Given the description of an element on the screen output the (x, y) to click on. 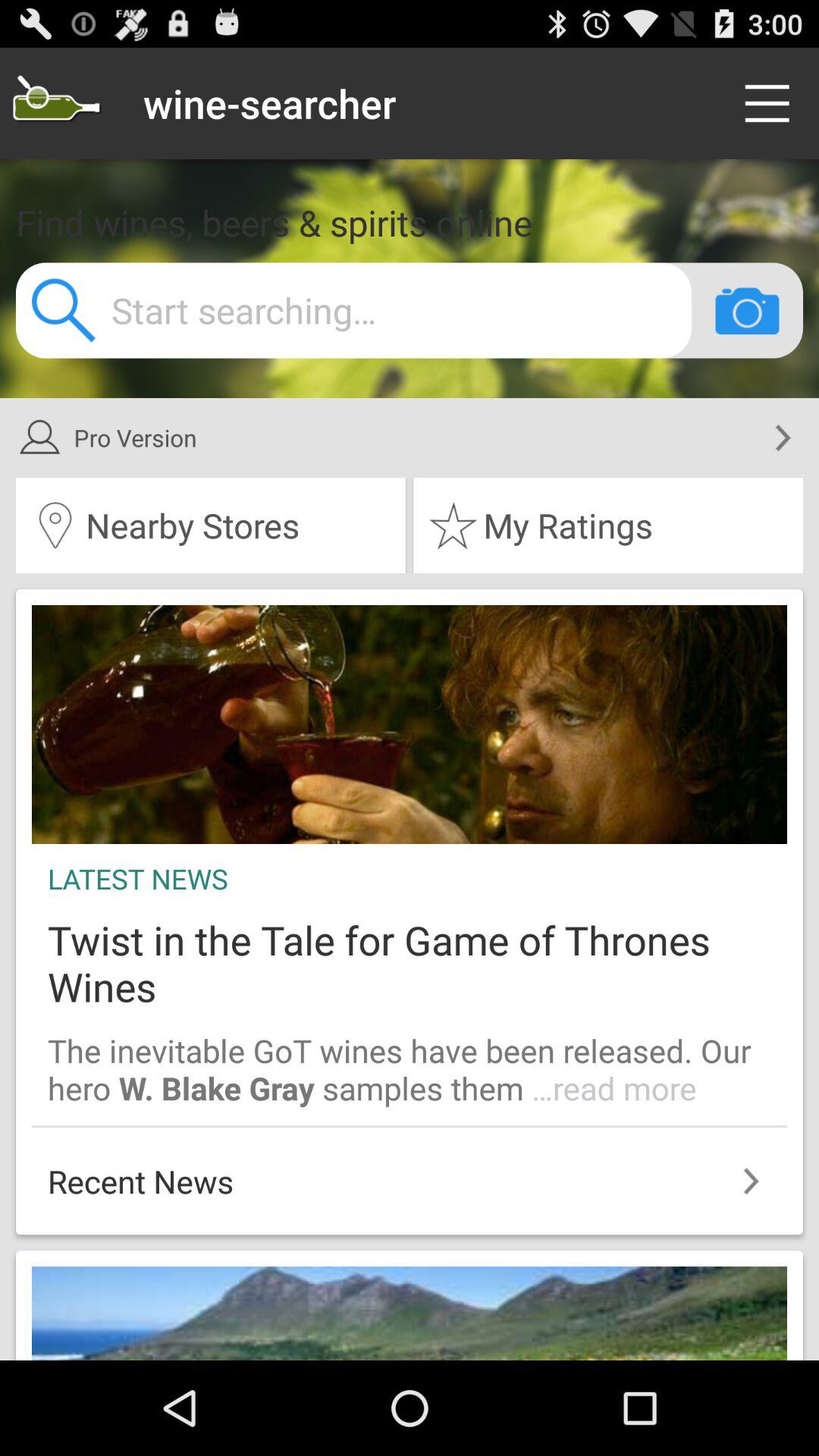
flip to pro version icon (389, 437)
